Given the description of an element on the screen output the (x, y) to click on. 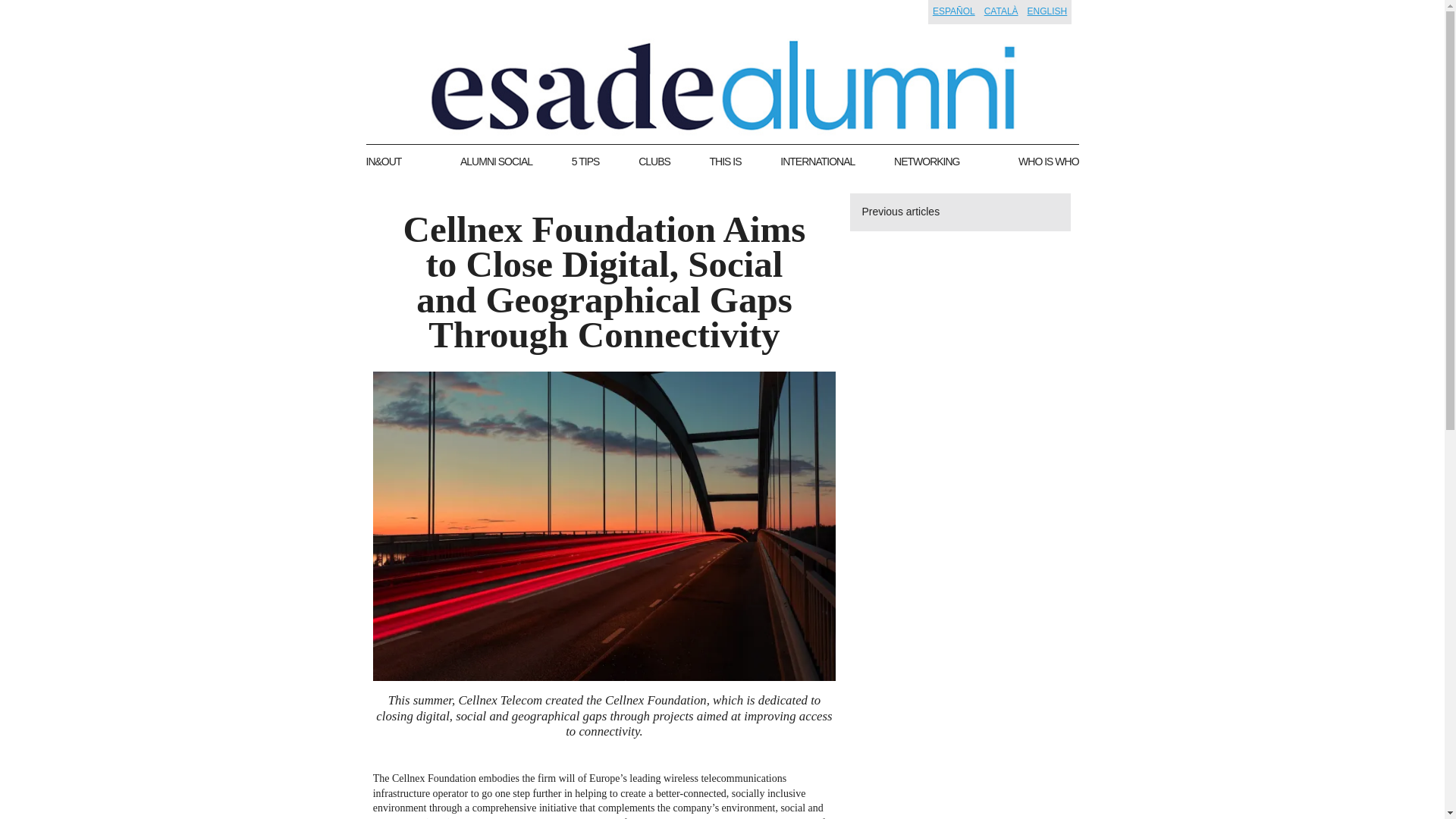
ESADE Alumni Magazine (722, 85)
ALUMNI SOCIAL (496, 161)
ENGLISH (1047, 10)
5 TIPS (585, 161)
WHO IS WHO (1047, 161)
INTERNATIONAL (817, 161)
THIS IS (725, 161)
CLUBS (654, 161)
